Given the description of an element on the screen output the (x, y) to click on. 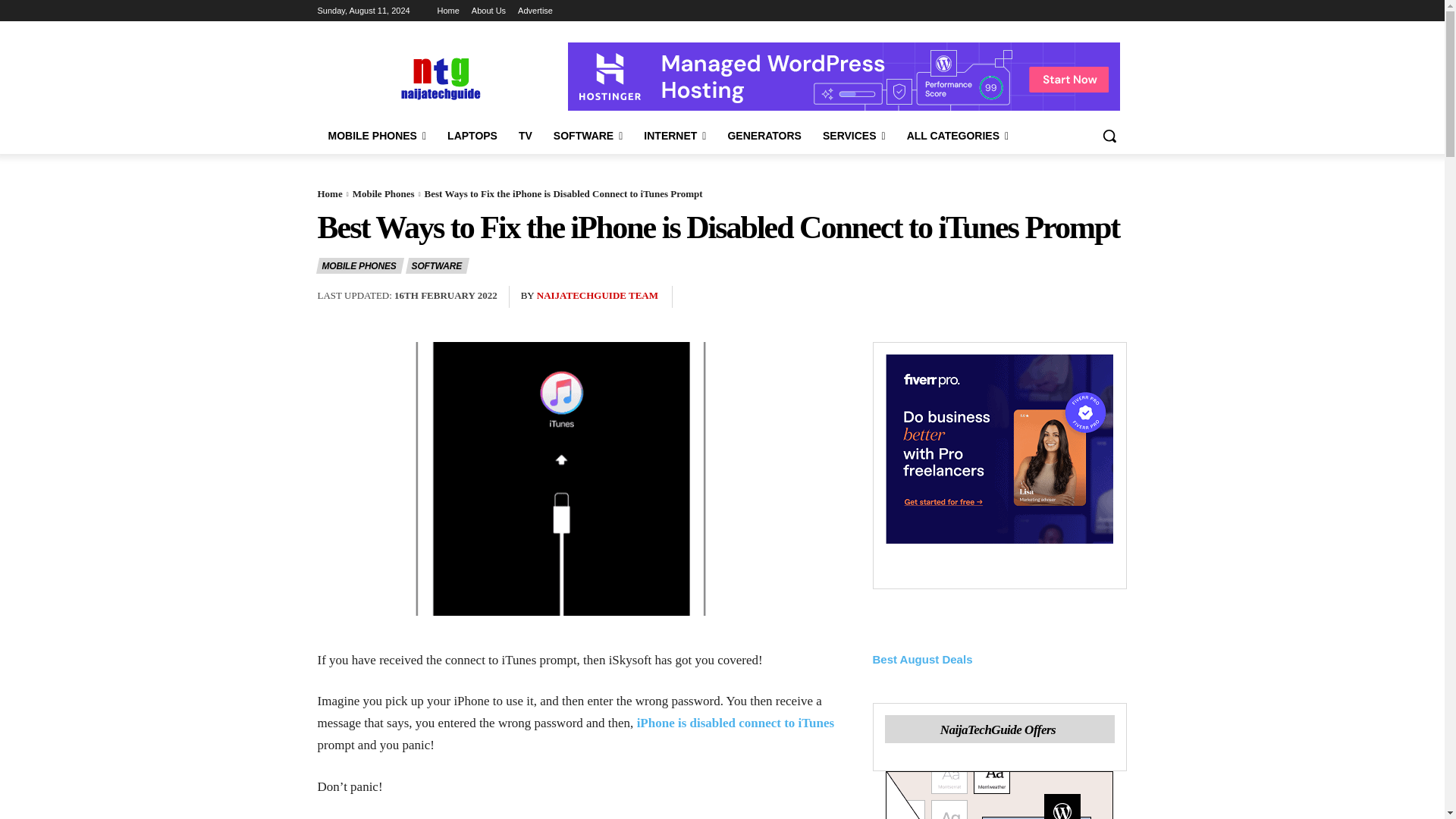
Advertise and Promote your Business on NaijaTechGuide NTG (535, 10)
NaijaTechGuide (438, 76)
Home (449, 10)
MOBILE PHONES (376, 135)
Advertise (535, 10)
About Us (488, 10)
NaijaTechGuide (438, 76)
